Given the description of an element on the screen output the (x, y) to click on. 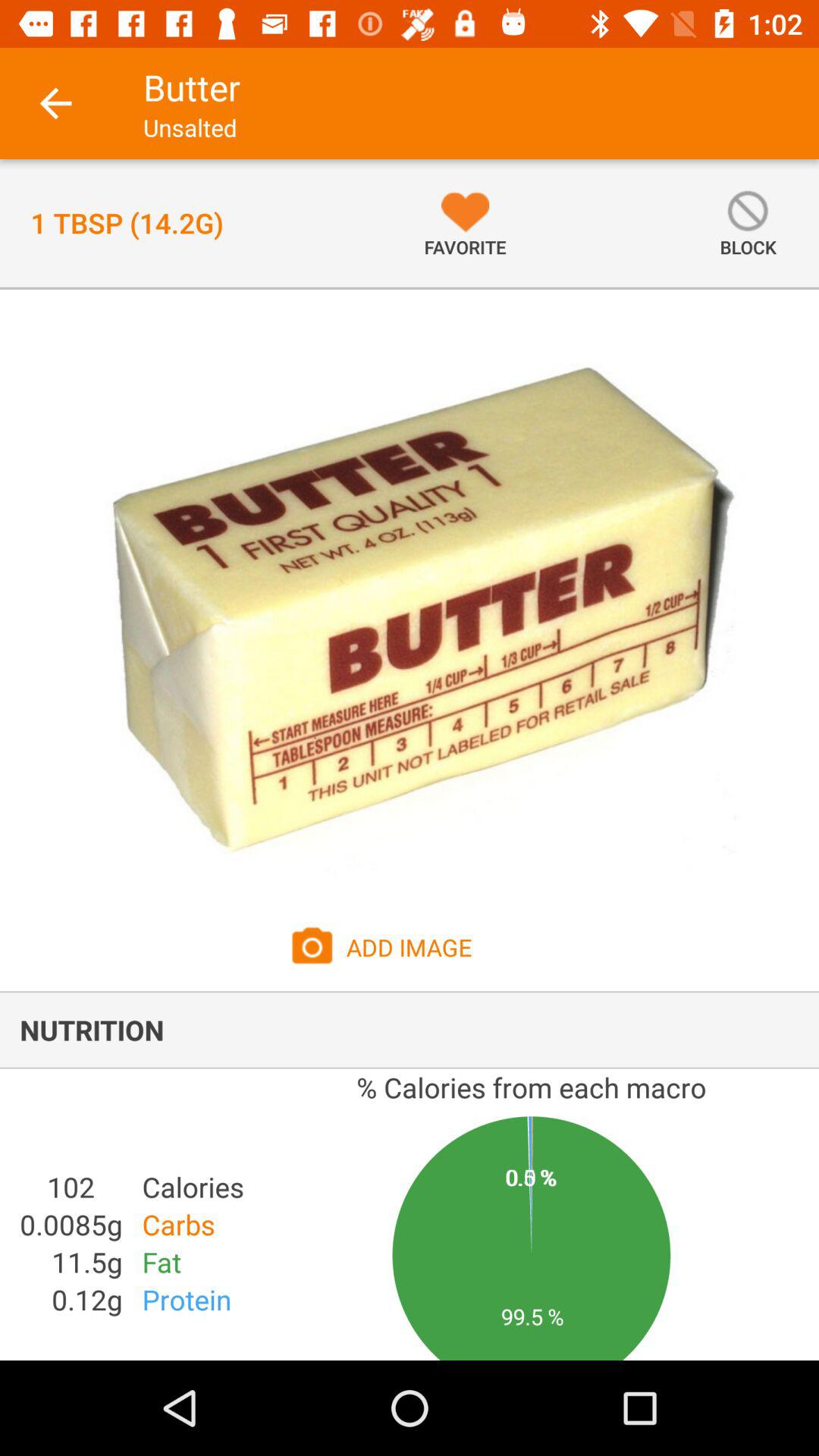
turn off item next to butter item (55, 103)
